Given the description of an element on the screen output the (x, y) to click on. 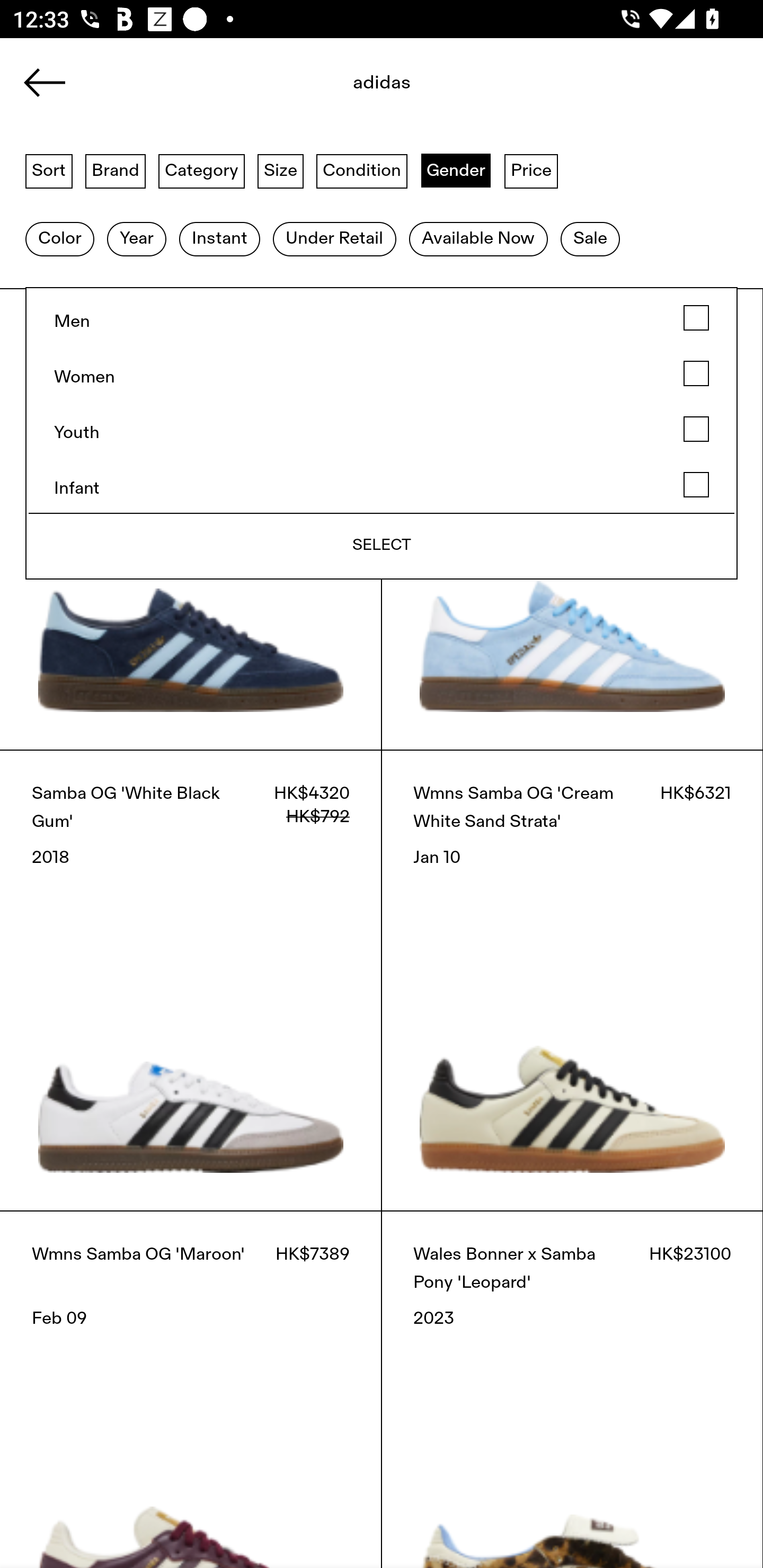
soccer shoes (381, 88)
Sort (48, 170)
Brand (115, 170)
Category (201, 170)
Size (280, 170)
Condition (361, 170)
Gender (455, 170)
Price (530, 170)
Color (59, 239)
Year (136, 239)
Instant (219, 239)
Under Retail (334, 239)
Available Now (477, 239)
Sale (589, 239)
Handball Spezial 'Navy Gum' HK$4763 HK$871 2020 (190, 518)
Handball Spezial 'Light Blue' HK$5633 HK$871 2019 (572, 518)
Men (381, 318)
Women (381, 373)
Youth (381, 429)
Infant (381, 484)
SELECT (381, 545)
Samba OG 'White Black Gum' HK$4320 HK$792 2018 (190, 979)
Wmns Samba OG 'Maroon' HK$7389 Feb 09 (190, 1389)
Wales Bonner x Samba Pony 'Leopard' HK$23100 2023 (572, 1389)
